Given the description of an element on the screen output the (x, y) to click on. 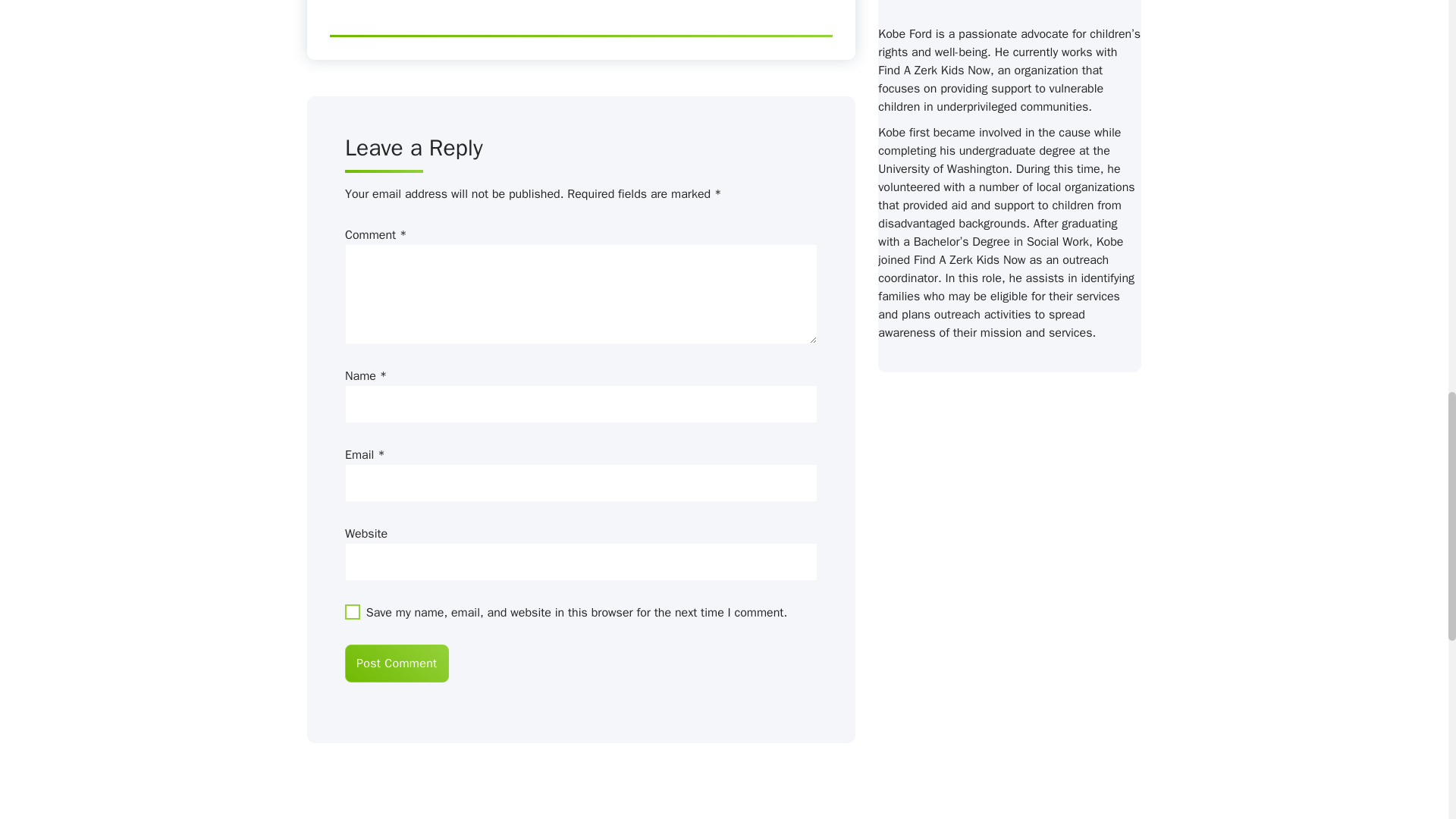
yes (352, 611)
Post Comment (396, 663)
Post Comment (396, 663)
